Given the description of an element on the screen output the (x, y) to click on. 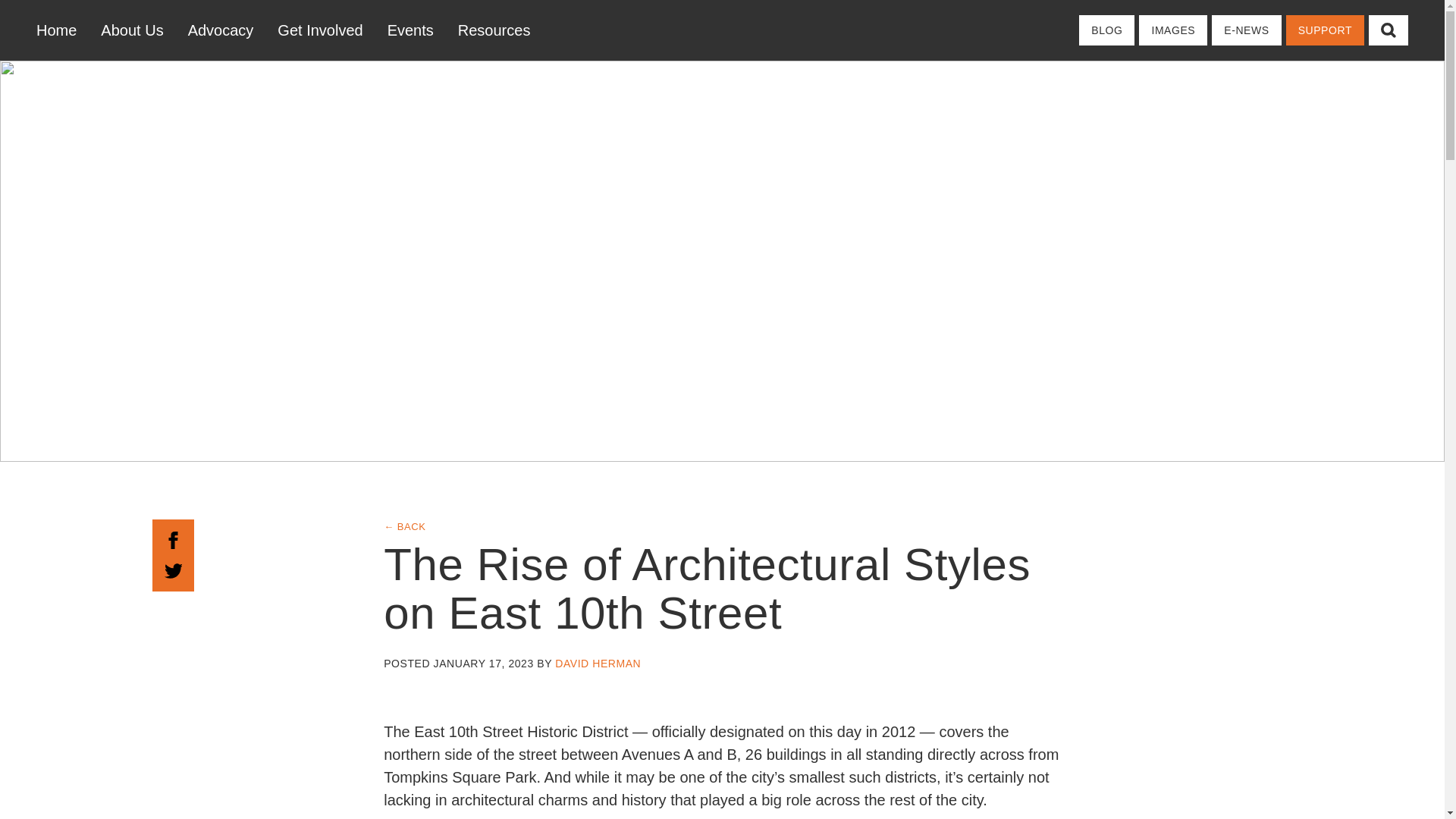
Share on Facebook (173, 538)
Get Involved (319, 30)
Events (410, 30)
About Us (131, 30)
Advocacy (221, 30)
Home (62, 30)
Share on Twitter (173, 568)
